Given the description of an element on the screen output the (x, y) to click on. 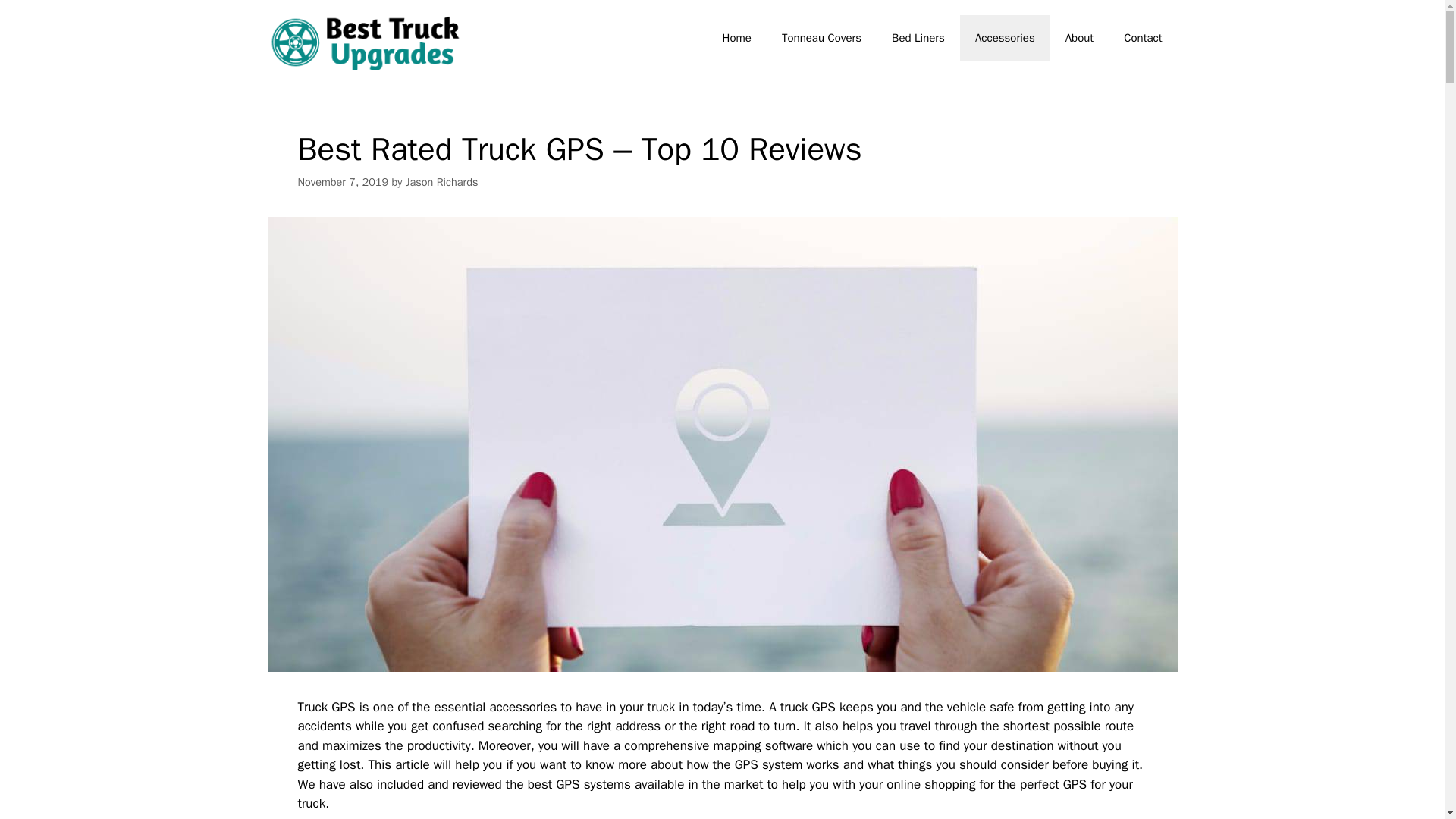
Accessories (1004, 37)
Bed Liners (917, 37)
About (1078, 37)
Contact (1142, 37)
Jason Richards (442, 182)
Home (737, 37)
View all posts by Jason Richards (442, 182)
Tonneau Covers (821, 37)
